Given the description of an element on the screen output the (x, y) to click on. 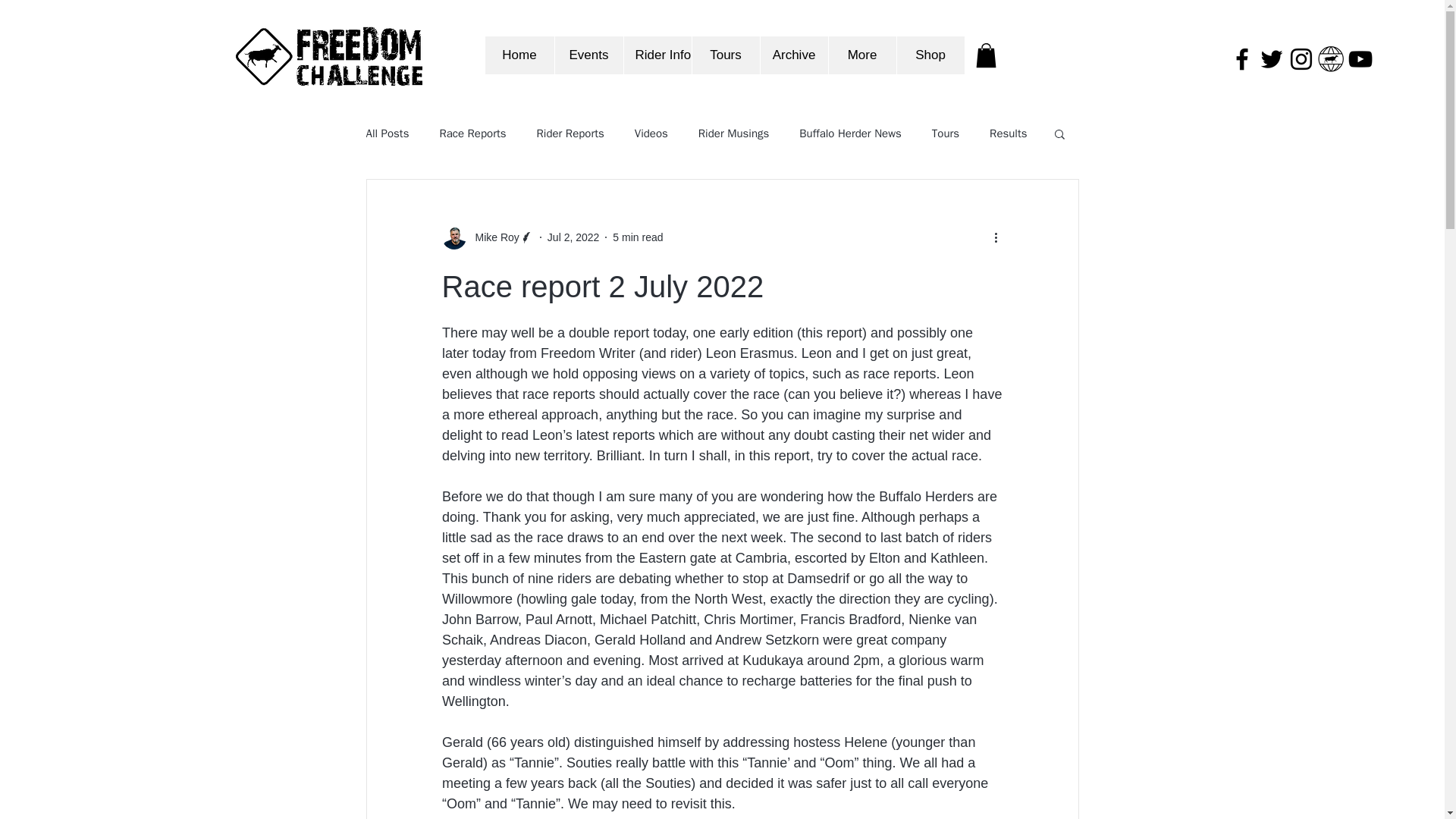
Home (519, 55)
Rider Info (657, 55)
Mike Roy (491, 237)
Jul 2, 2022 (573, 236)
5 min read (637, 236)
Shop (929, 55)
Tours (725, 55)
